Given the description of an element on the screen output the (x, y) to click on. 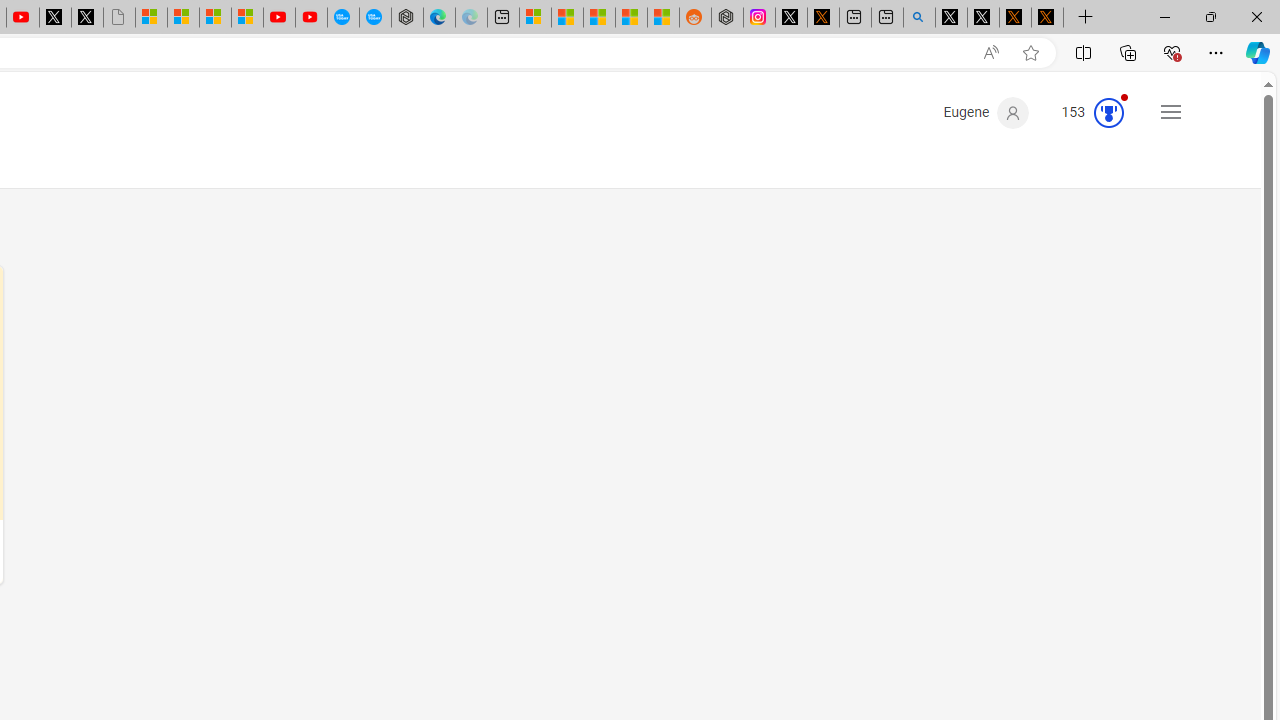
Settings and quick links (1170, 111)
Log in to X / X (791, 17)
Class: medal-circled (1109, 112)
